Given the description of an element on the screen output the (x, y) to click on. 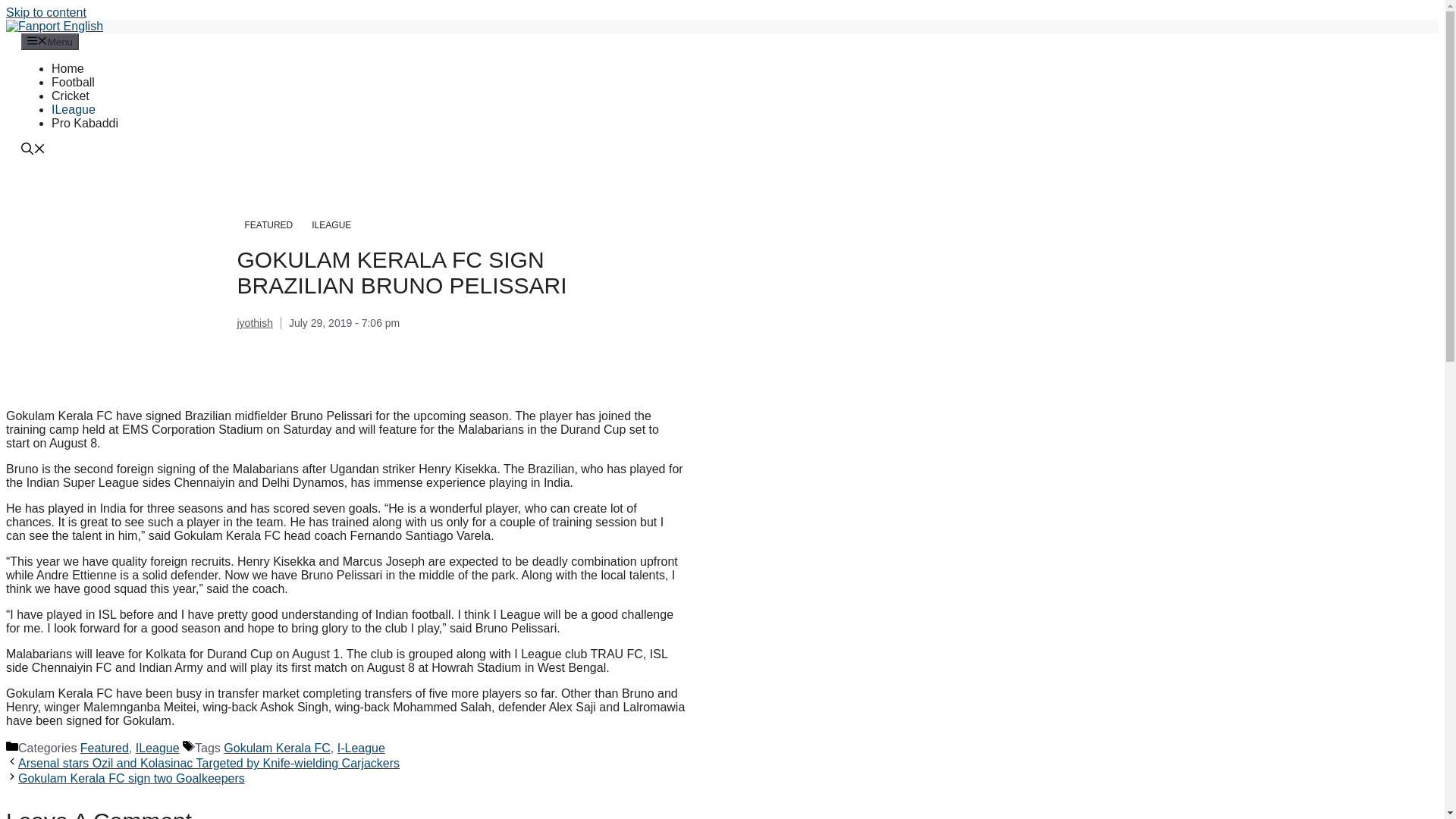
ILEAGUE (331, 224)
FEATURED (267, 224)
I-League (361, 748)
Football (72, 82)
Skip to content (45, 11)
Menu (49, 41)
Gokulam Kerala FC (277, 748)
Cricket (69, 95)
Skip to content (45, 11)
Gokulam Kerala FC sign two Goalkeepers (130, 778)
ILeague (73, 109)
Featured (104, 748)
jyothish (253, 322)
Home (67, 68)
